Given the description of an element on the screen output the (x, y) to click on. 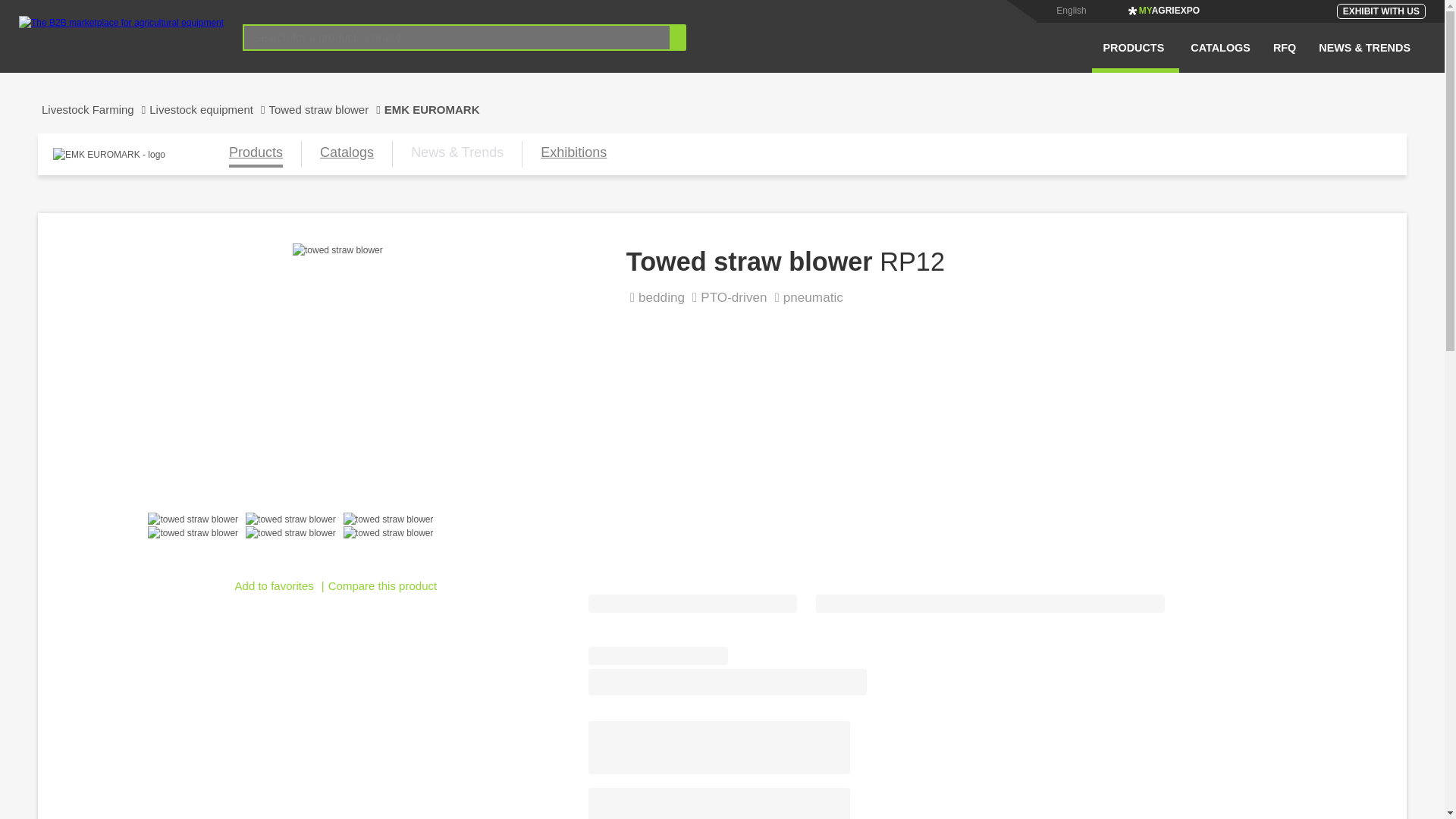
PRODUCTS (1135, 56)
EXHIBIT WITH US (1380, 11)
Products (255, 153)
RFQ (1284, 56)
English (1071, 9)
Catalogs (347, 153)
Livestock Farming (93, 109)
CATALOGS (1220, 56)
Livestock equipment (208, 109)
Towed straw blower (325, 109)
